Given the description of an element on the screen output the (x, y) to click on. 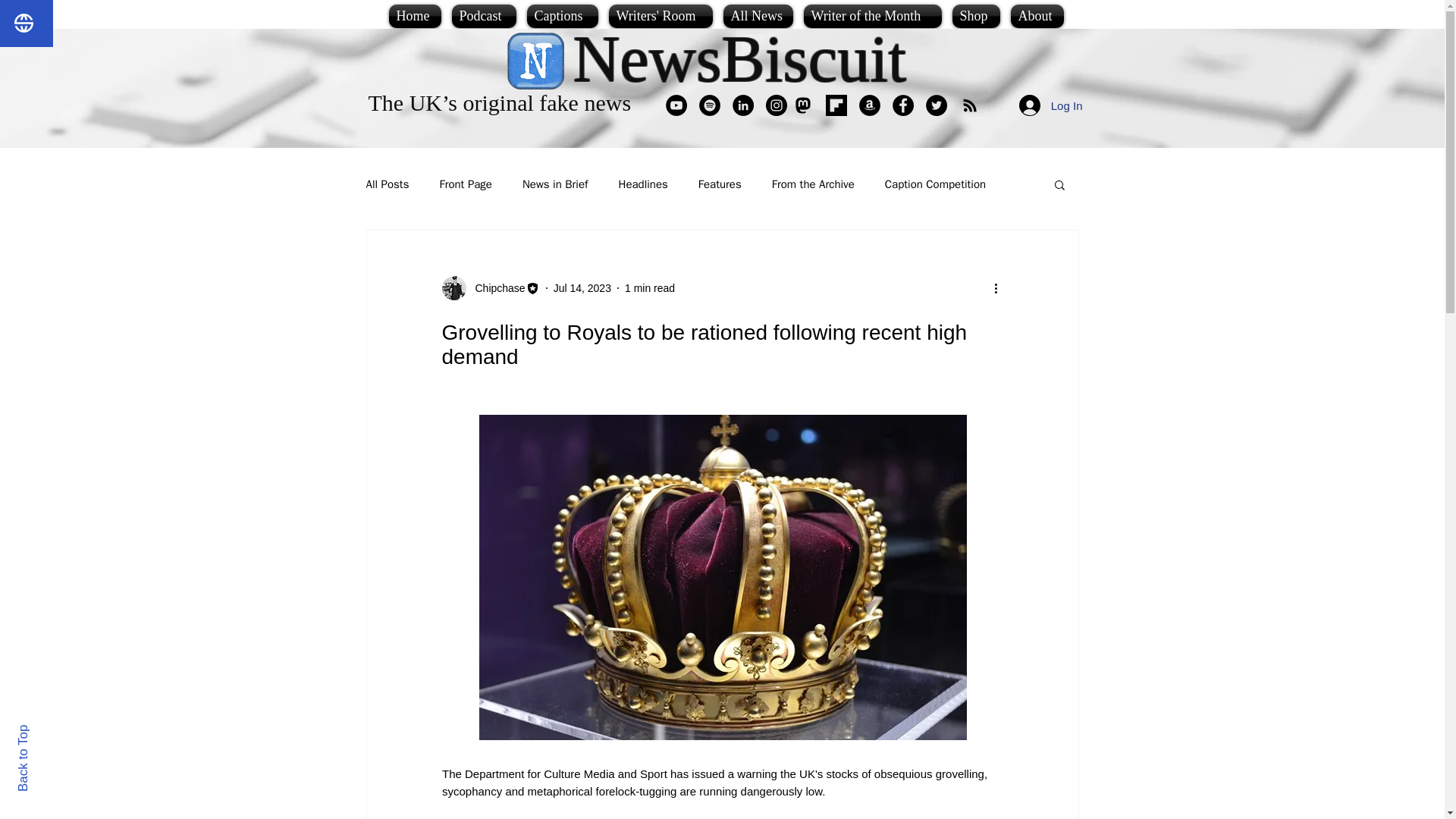
Headlines (643, 184)
Chipchase (489, 288)
Shop (975, 15)
1 min read (649, 287)
Writer of the Month (871, 15)
All Posts (387, 184)
Features (719, 184)
Caption Competition (935, 184)
Log In (1051, 105)
Writers' Room (660, 15)
Front Page (465, 184)
Home (416, 15)
Jul 14, 2023 (582, 287)
All News (757, 15)
News in Brief (555, 184)
